Given the description of an element on the screen output the (x, y) to click on. 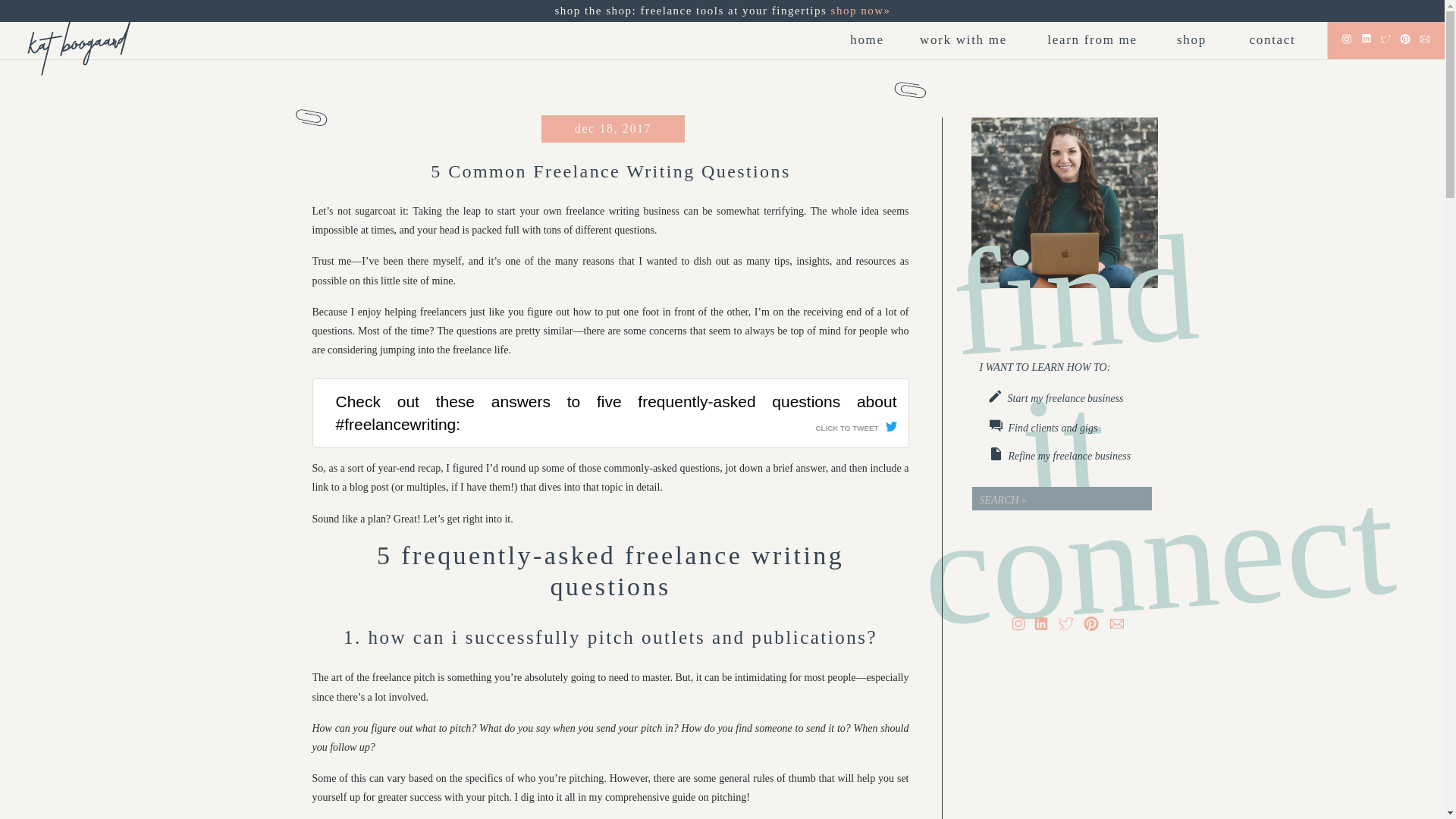
Refine my freelance business (1087, 455)
Find clients and gigs (1081, 427)
work with me (963, 42)
Start my freelance business (1082, 398)
learn from me (1091, 42)
contact (1272, 42)
shop (1191, 42)
home (866, 42)
CLICK TO TWEET (855, 423)
